Given the description of an element on the screen output the (x, y) to click on. 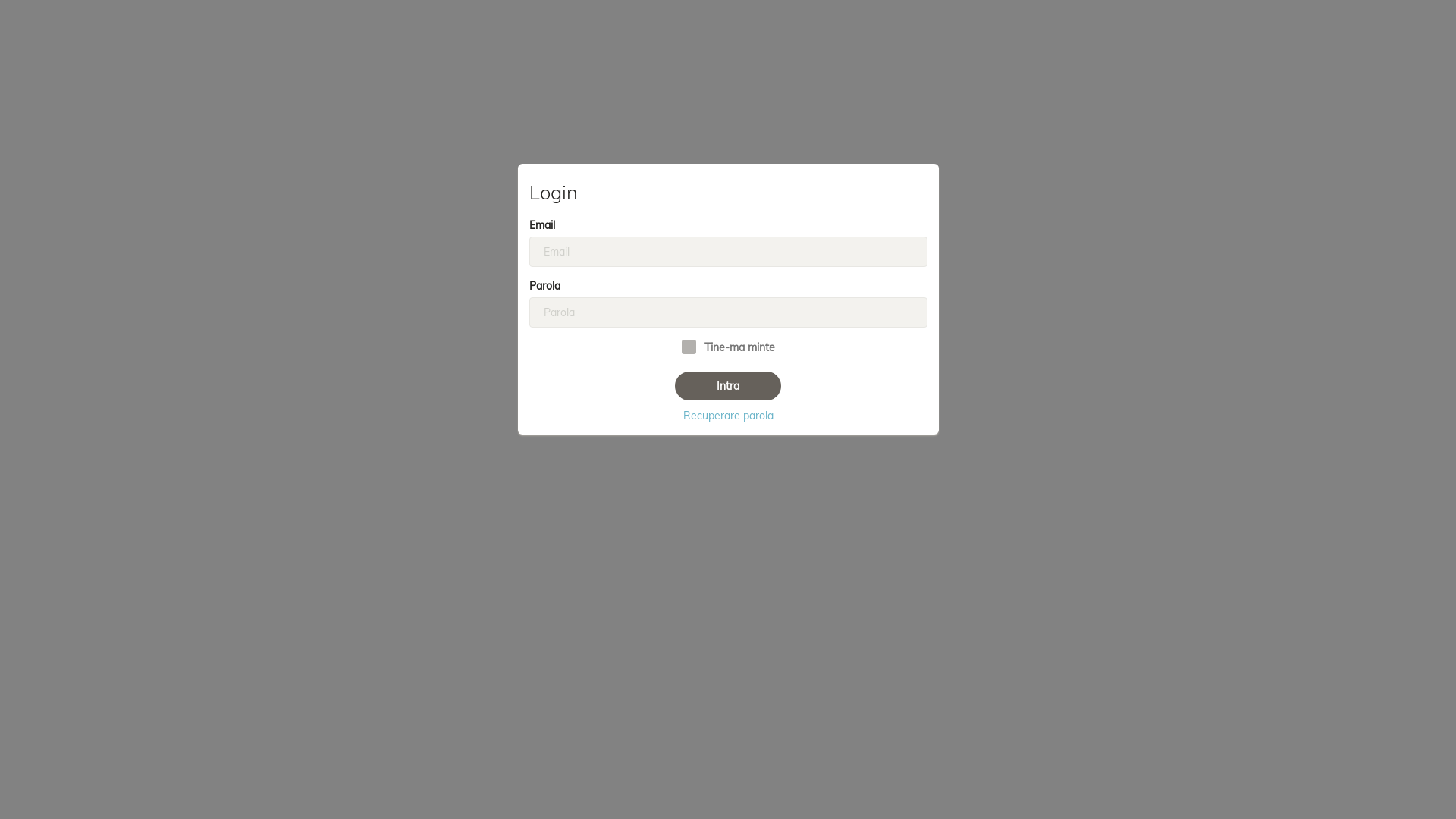
Recuperare parola Element type: text (727, 415)
Intra Element type: text (727, 385)
